Given the description of an element on the screen output the (x, y) to click on. 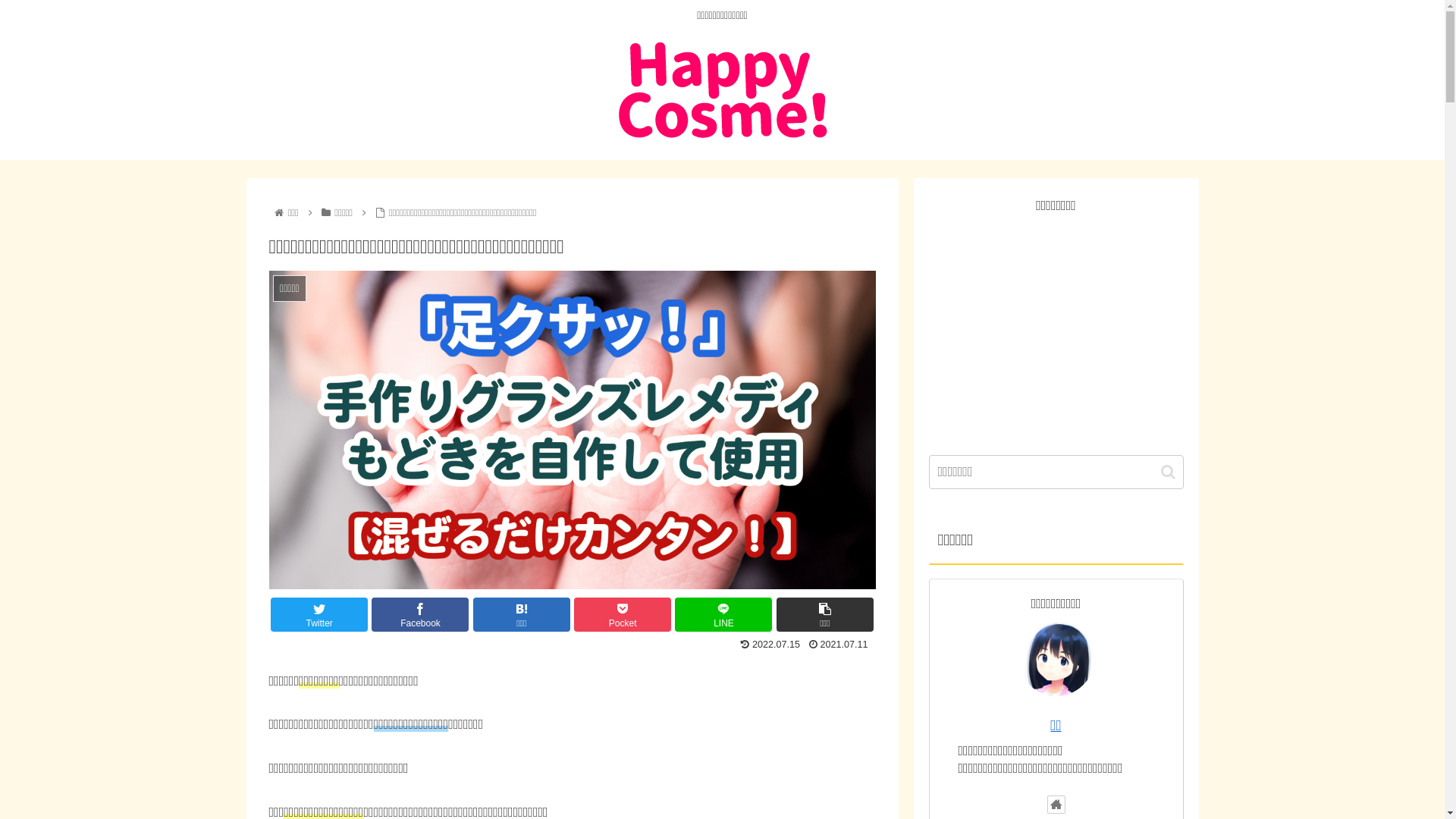
Pocket Element type: text (622, 614)
Facebook Element type: text (419, 614)
Advertisement Element type: hover (1055, 324)
Twitter Element type: text (318, 614)
LINE Element type: text (722, 614)
